Given the description of an element on the screen output the (x, y) to click on. 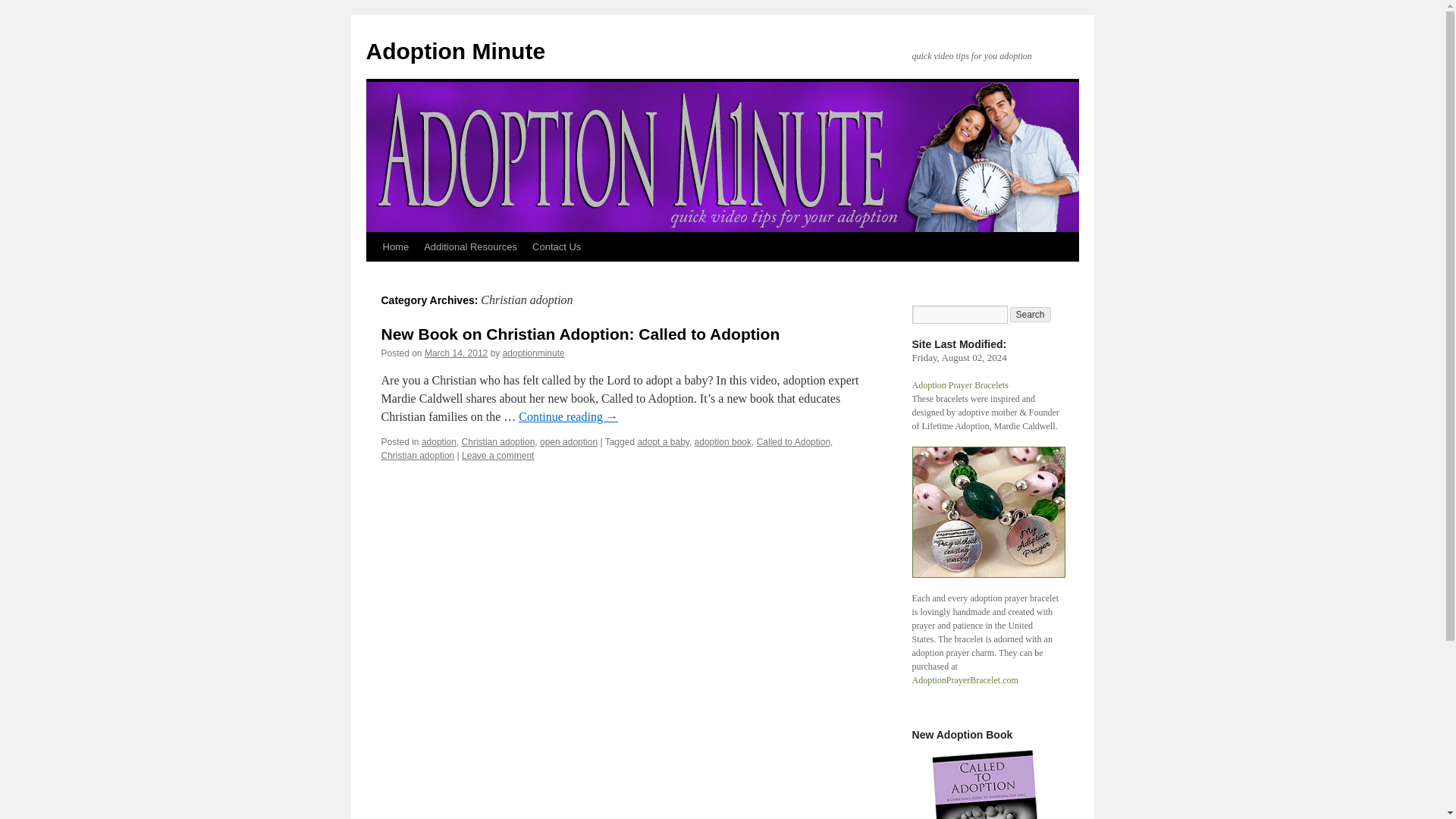
Adoption Minute (454, 50)
Christian adoption (417, 455)
Christian adoption (498, 441)
Called to Adoption (793, 441)
Home (395, 246)
Search (1030, 314)
adopt a baby (662, 441)
open adoption (568, 441)
Adoption Prayer Bracelets (959, 385)
Search (1030, 314)
Leave a comment (497, 455)
New Book on Christian Adoption: Called to Adoption (579, 334)
adoptionminute (533, 353)
adoption (439, 441)
Additional Resources (470, 246)
